Given the description of an element on the screen output the (x, y) to click on. 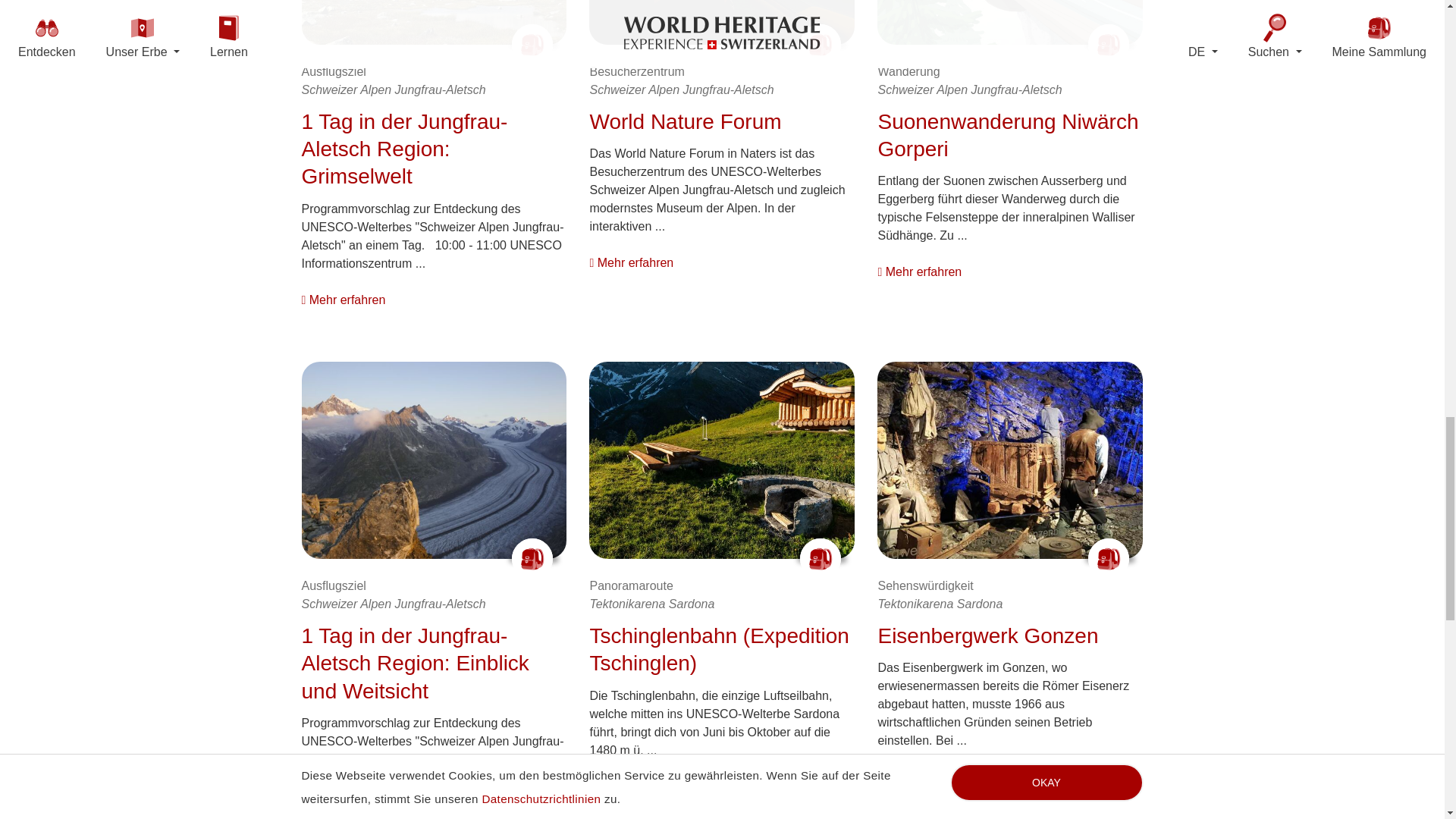
Merken (820, 558)
Merken (820, 44)
Merken (1108, 558)
Merken (1108, 44)
Merken (532, 558)
Merken (532, 44)
